Given the description of an element on the screen output the (x, y) to click on. 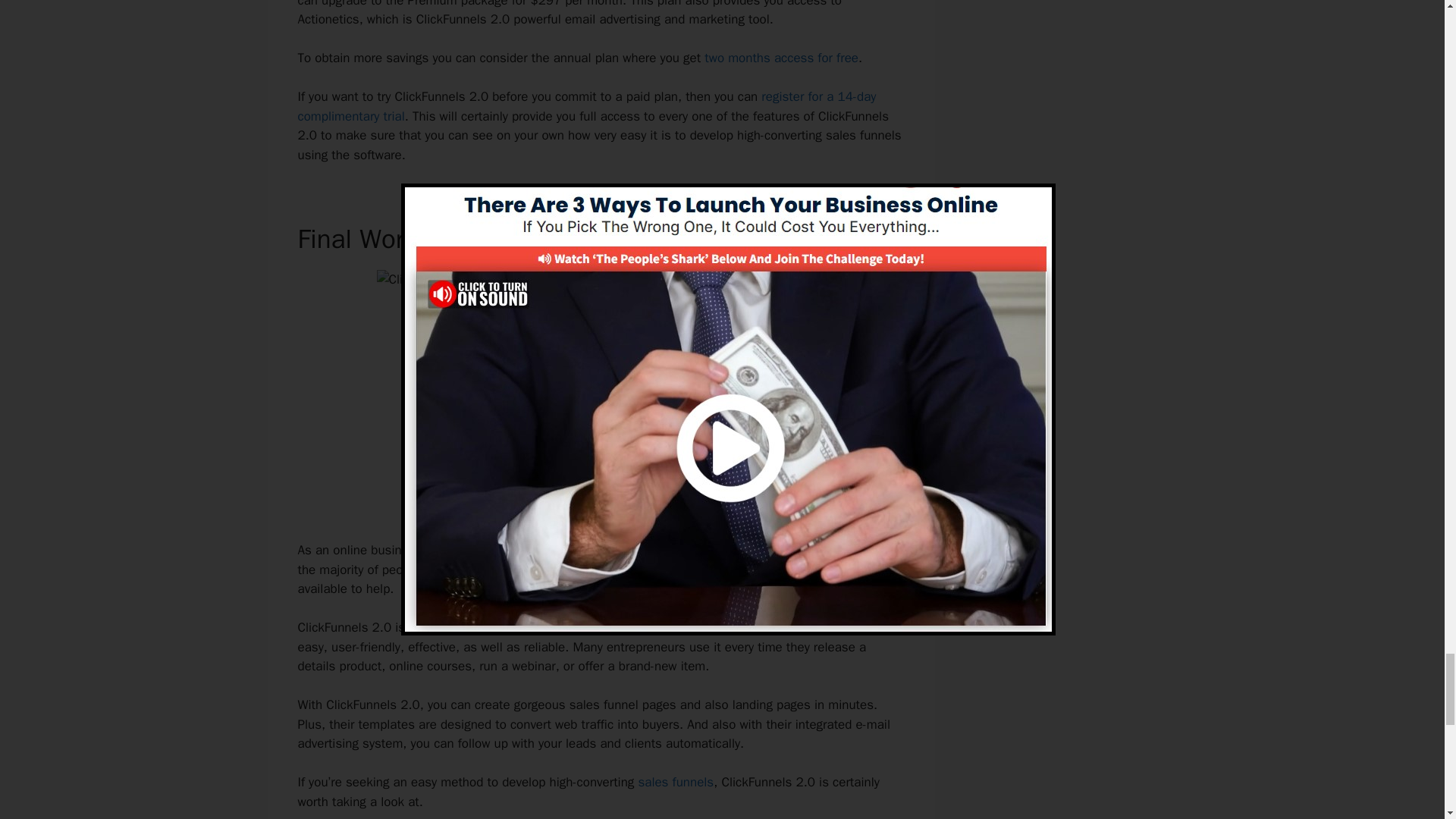
sales funnels (675, 781)
register for a 14-day complimentary trial (586, 106)
sales funnels are essential for your success (672, 549)
two months access for free (781, 57)
